Given the description of an element on the screen output the (x, y) to click on. 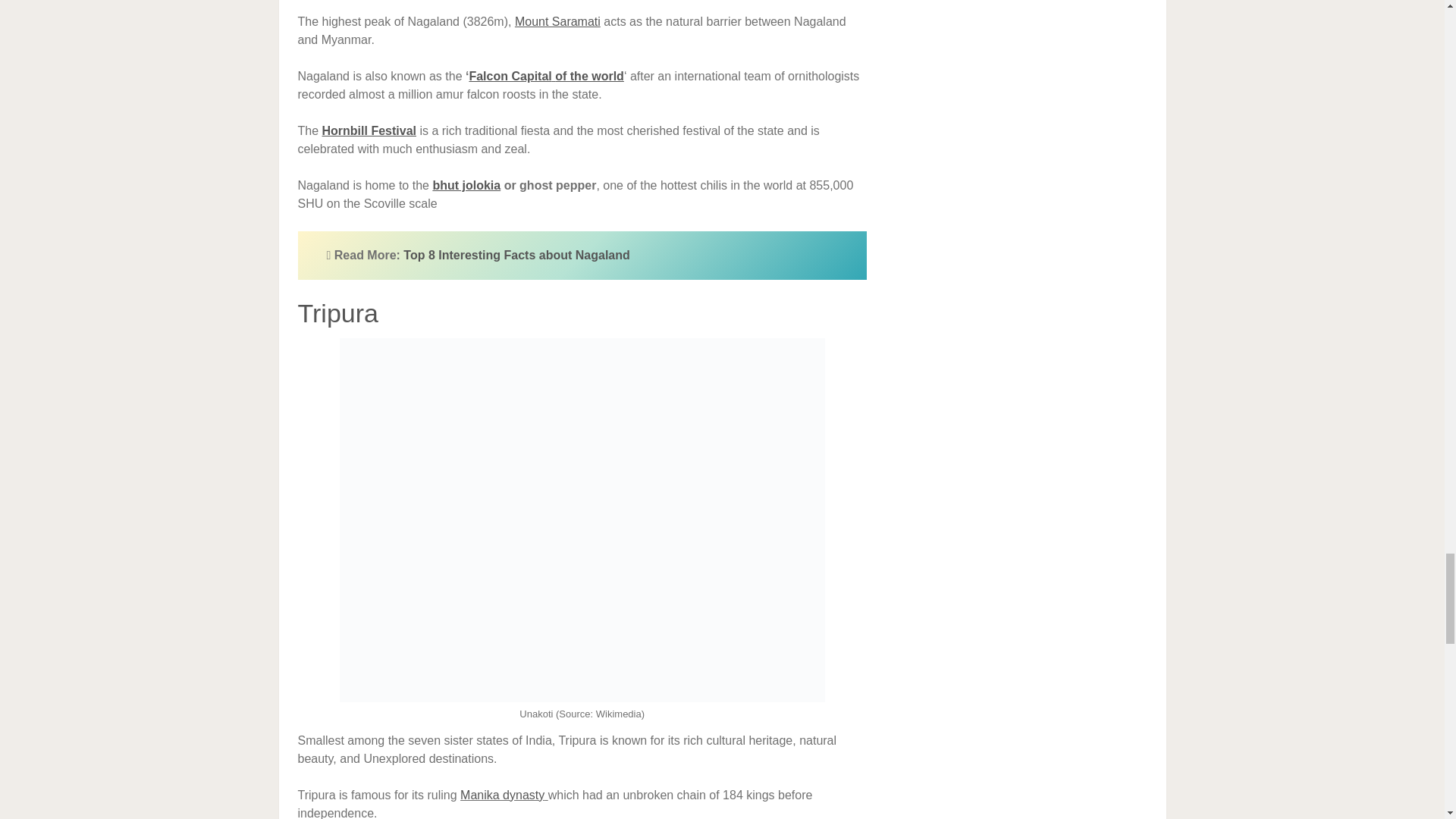
Hornbill Festival (370, 130)
Falcon Capital of the world (545, 75)
Mount Saramati (557, 21)
bhut jolokia (466, 185)
Top 8 Interesting Facts about Nagaland (515, 254)
Manika dynasty (502, 794)
